Given the description of an element on the screen output the (x, y) to click on. 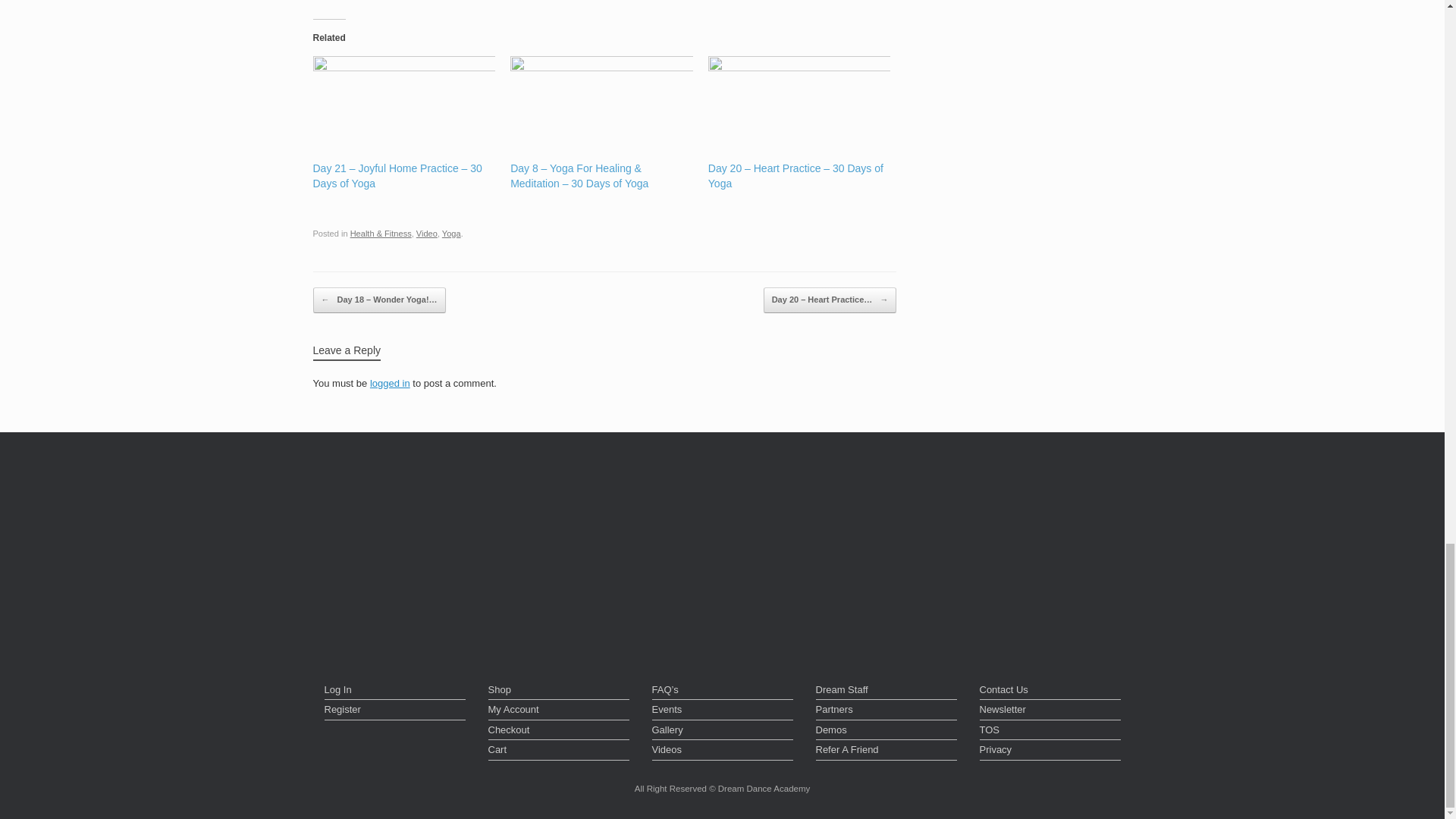
Yoga (451, 233)
Video (427, 233)
